Given the description of an element on the screen output the (x, y) to click on. 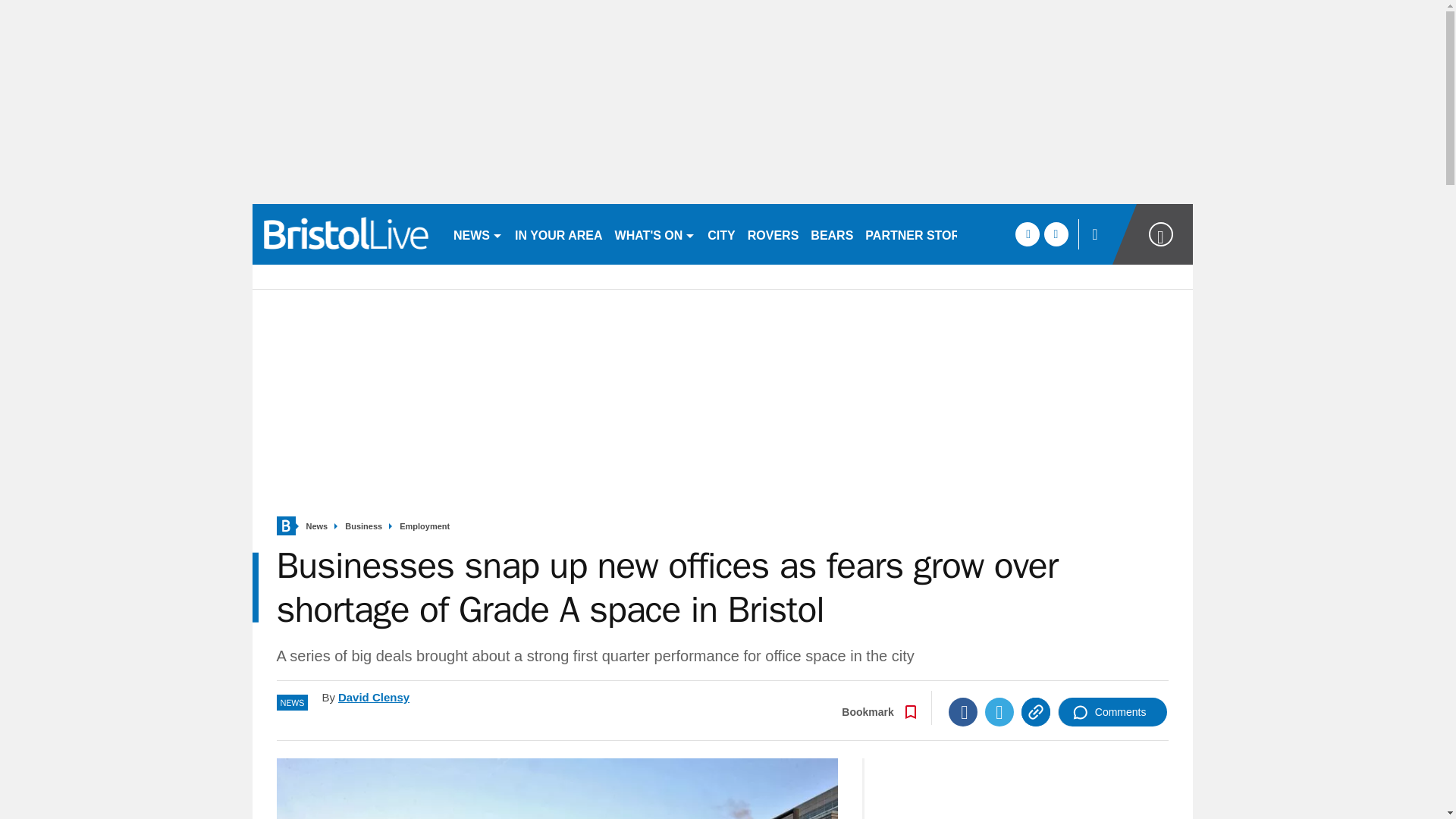
IN YOUR AREA (558, 233)
PARTNER STORIES (922, 233)
Twitter (999, 711)
Comments (1112, 711)
facebook (1026, 233)
bristolpost (345, 233)
Facebook (962, 711)
NEWS (477, 233)
WHAT'S ON (654, 233)
ROVERS (773, 233)
